Given the description of an element on the screen output the (x, y) to click on. 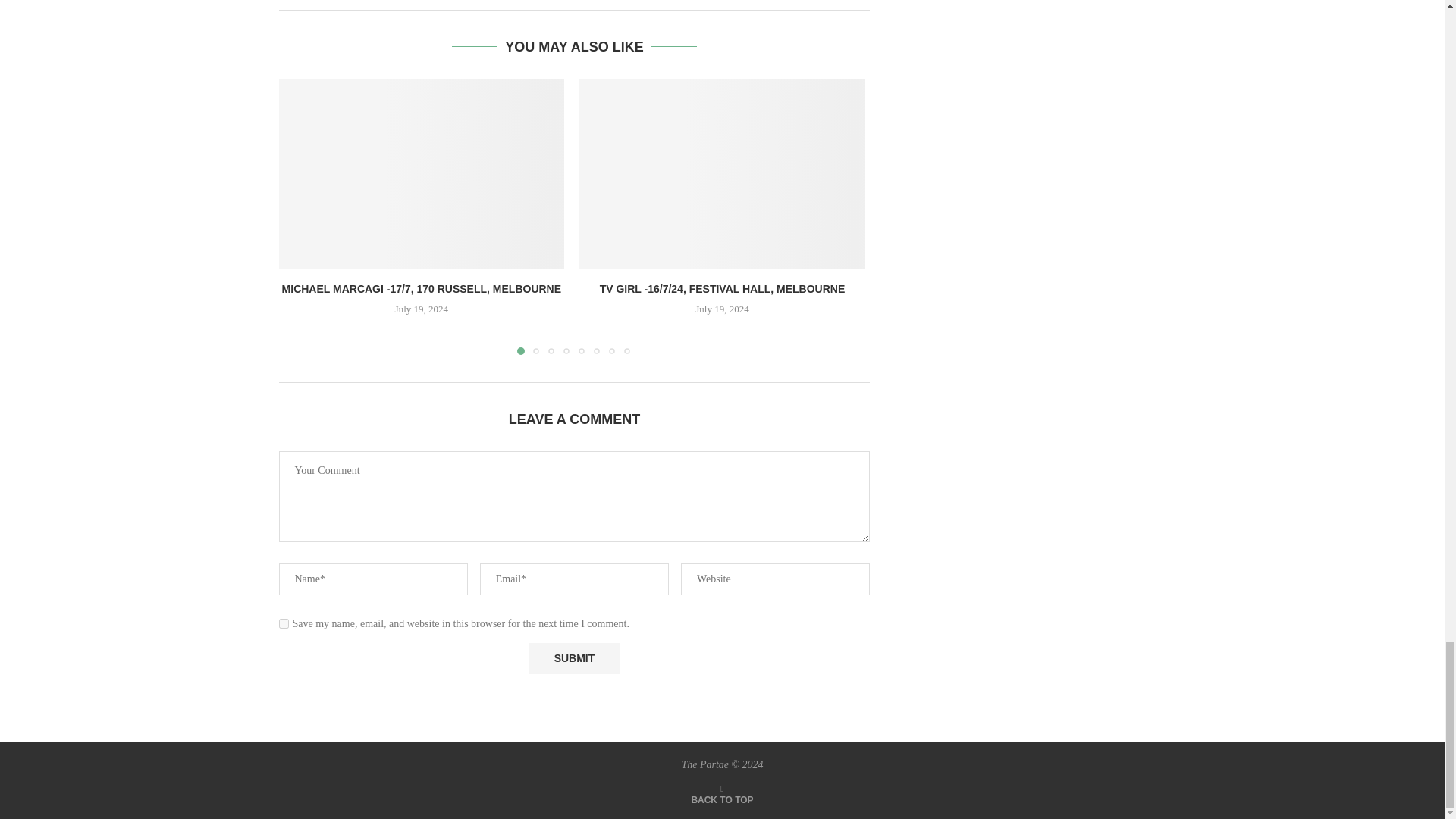
Submit (574, 658)
yes (283, 623)
